Given the description of an element on the screen output the (x, y) to click on. 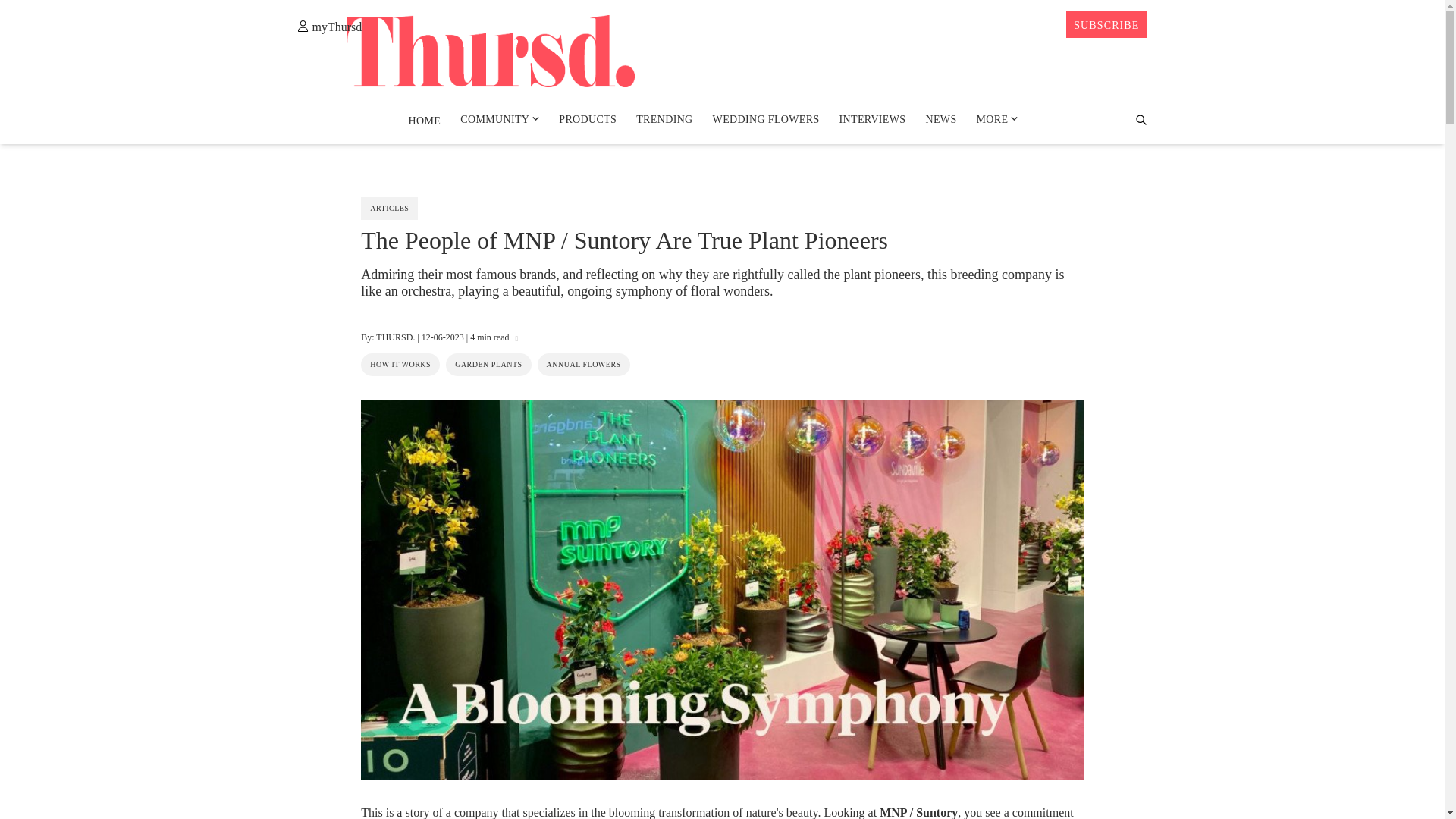
SUBSCRIBE (1106, 23)
myThursd (329, 25)
